Given the description of an element on the screen output the (x, y) to click on. 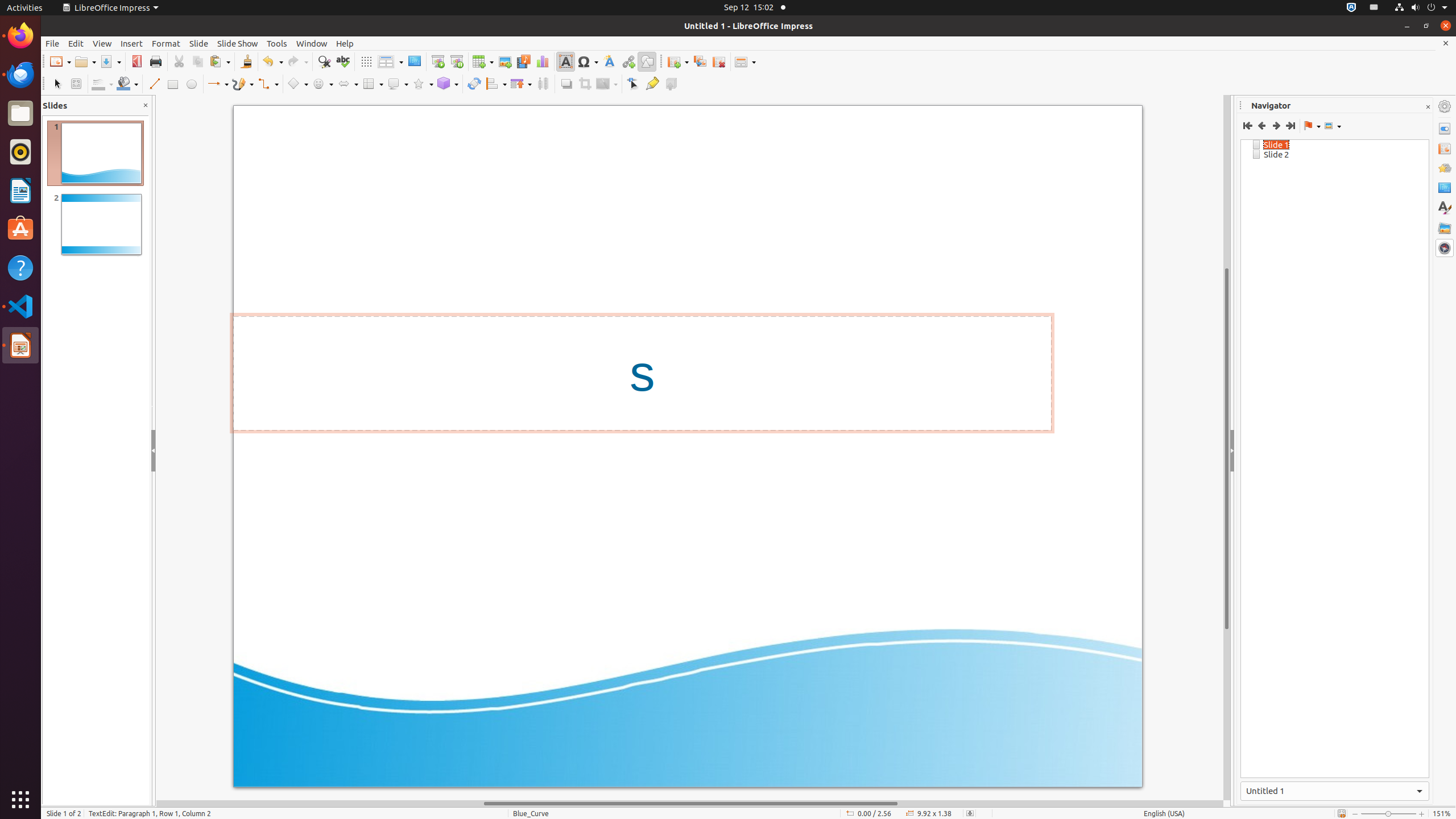
Spelling Element type: push-button (342, 61)
Window Element type: menu (311, 43)
Redo Element type: push-button (296, 61)
Image Element type: push-button (504, 61)
Format Element type: menu (165, 43)
